Given the description of an element on the screen output the (x, y) to click on. 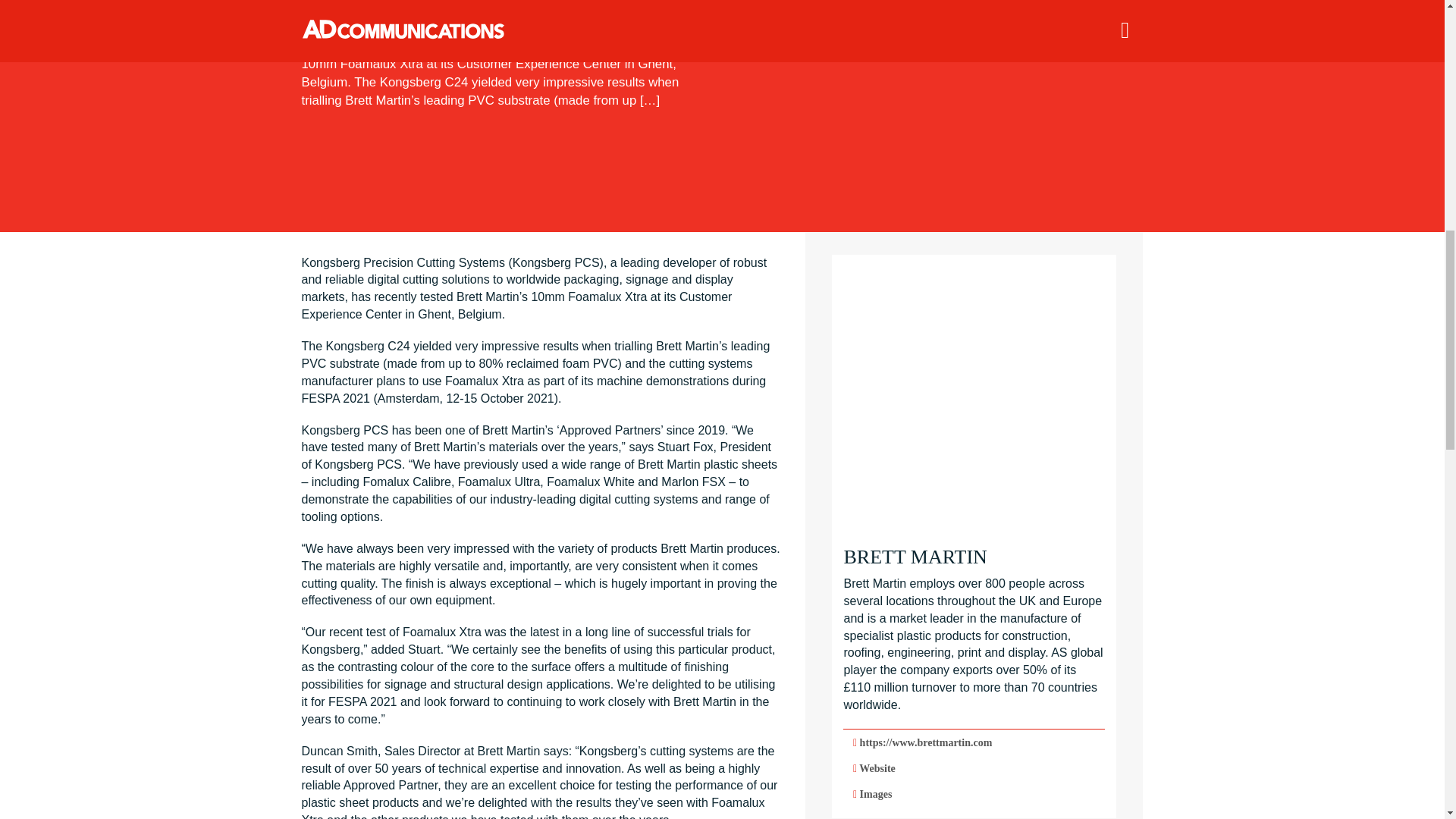
Brett Martin Logo (974, 396)
Images (974, 794)
Website (974, 768)
